Given the description of an element on the screen output the (x, y) to click on. 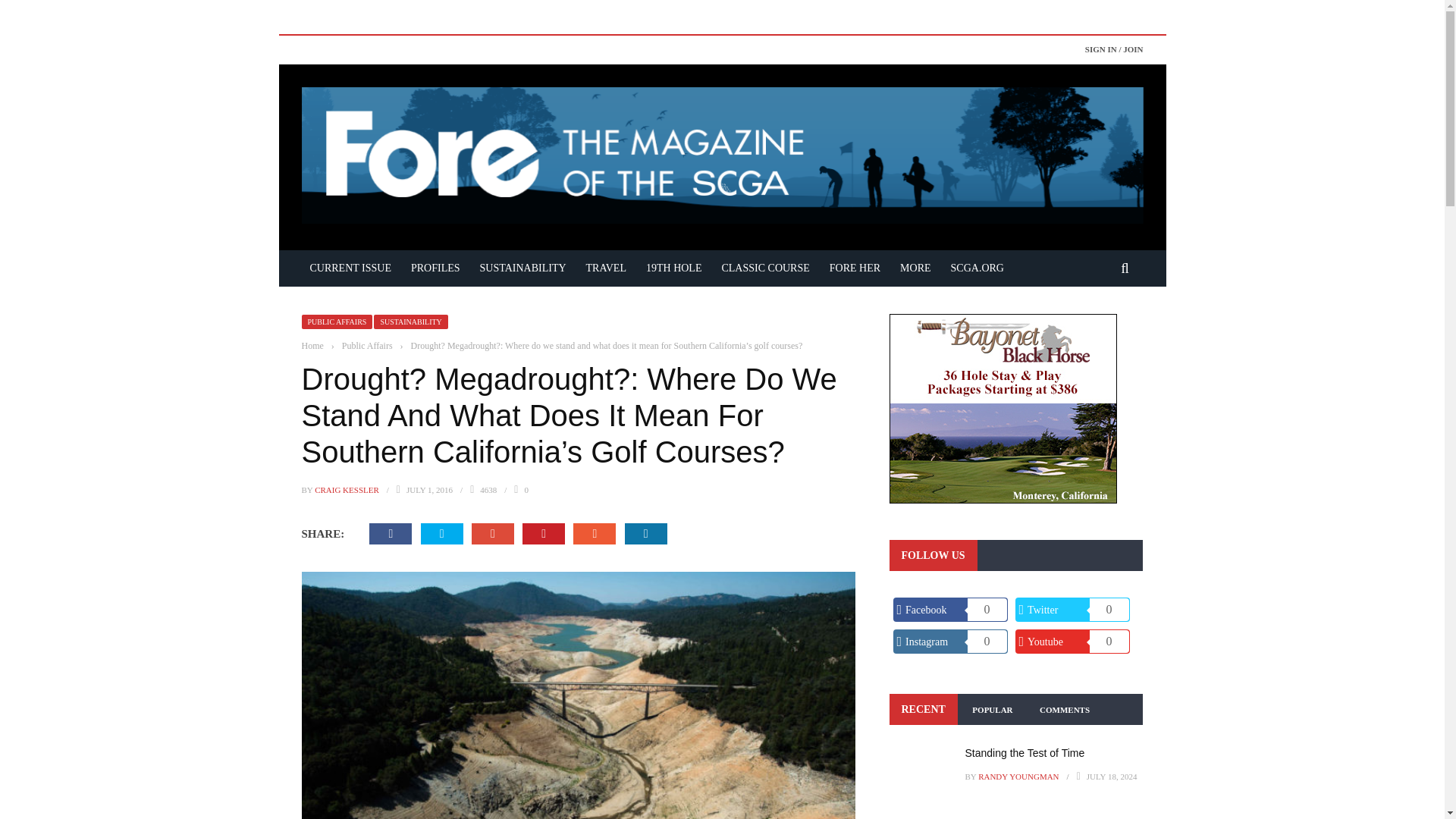
19TH HOLE (673, 267)
PROFILES (435, 267)
CURRENT ISSUE (349, 267)
CONTACT US (180, 148)
MORE (915, 267)
SUSTAINABILITY (410, 321)
SUSTAINABILITY (523, 267)
TRAVEL (606, 267)
SCGA.ORG (976, 267)
PUBLIC AFFAIRS (336, 321)
FORE HER (854, 267)
CLASSIC COURSE (764, 267)
HOME (180, 178)
ABOUT ME (180, 118)
